Given the description of an element on the screen output the (x, y) to click on. 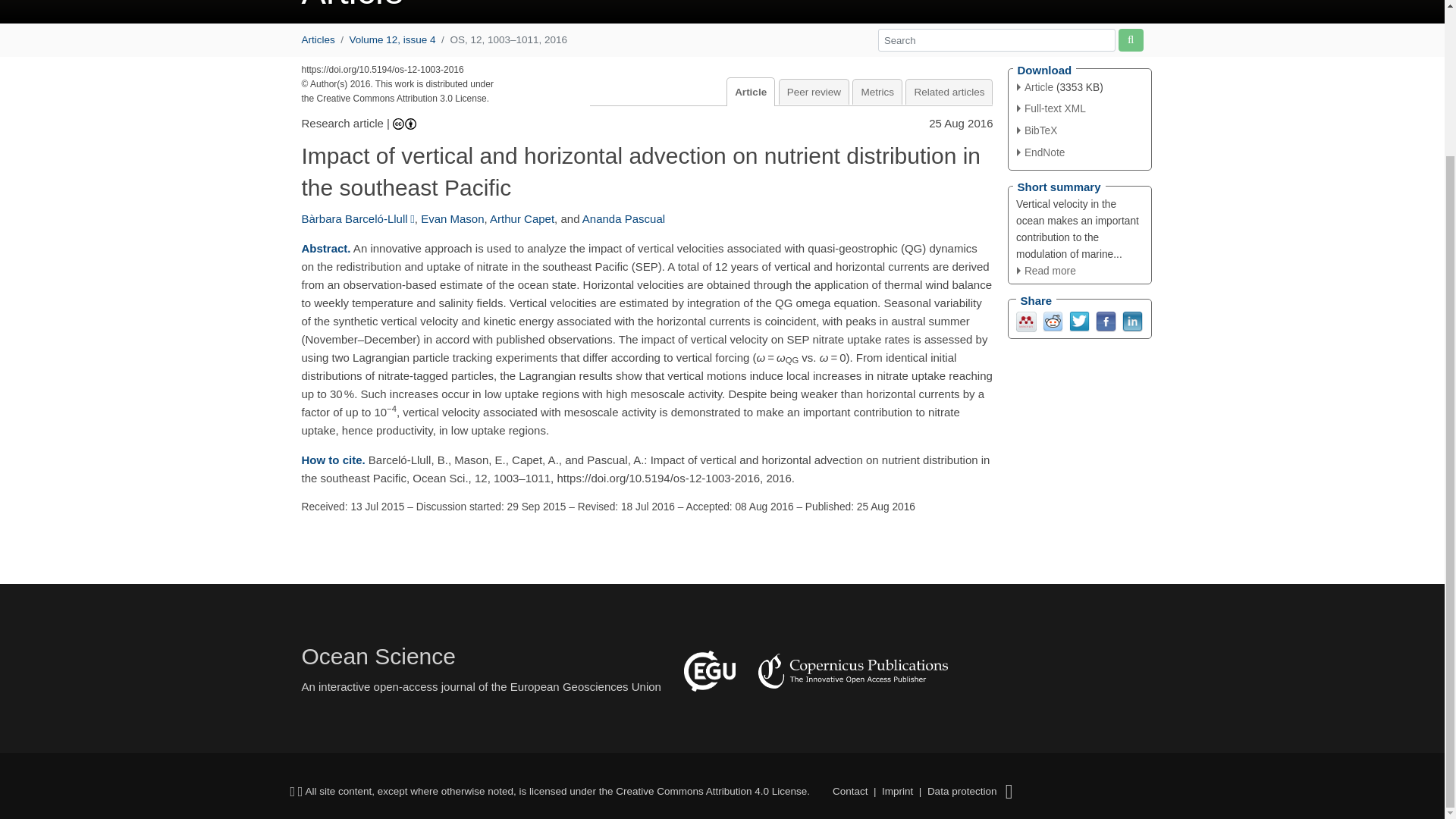
XML Version (1051, 108)
Twitter (1078, 320)
Facebook (1104, 320)
Reddit (1052, 320)
Start site search (1130, 39)
Mendeley (1026, 320)
